Given the description of an element on the screen output the (x, y) to click on. 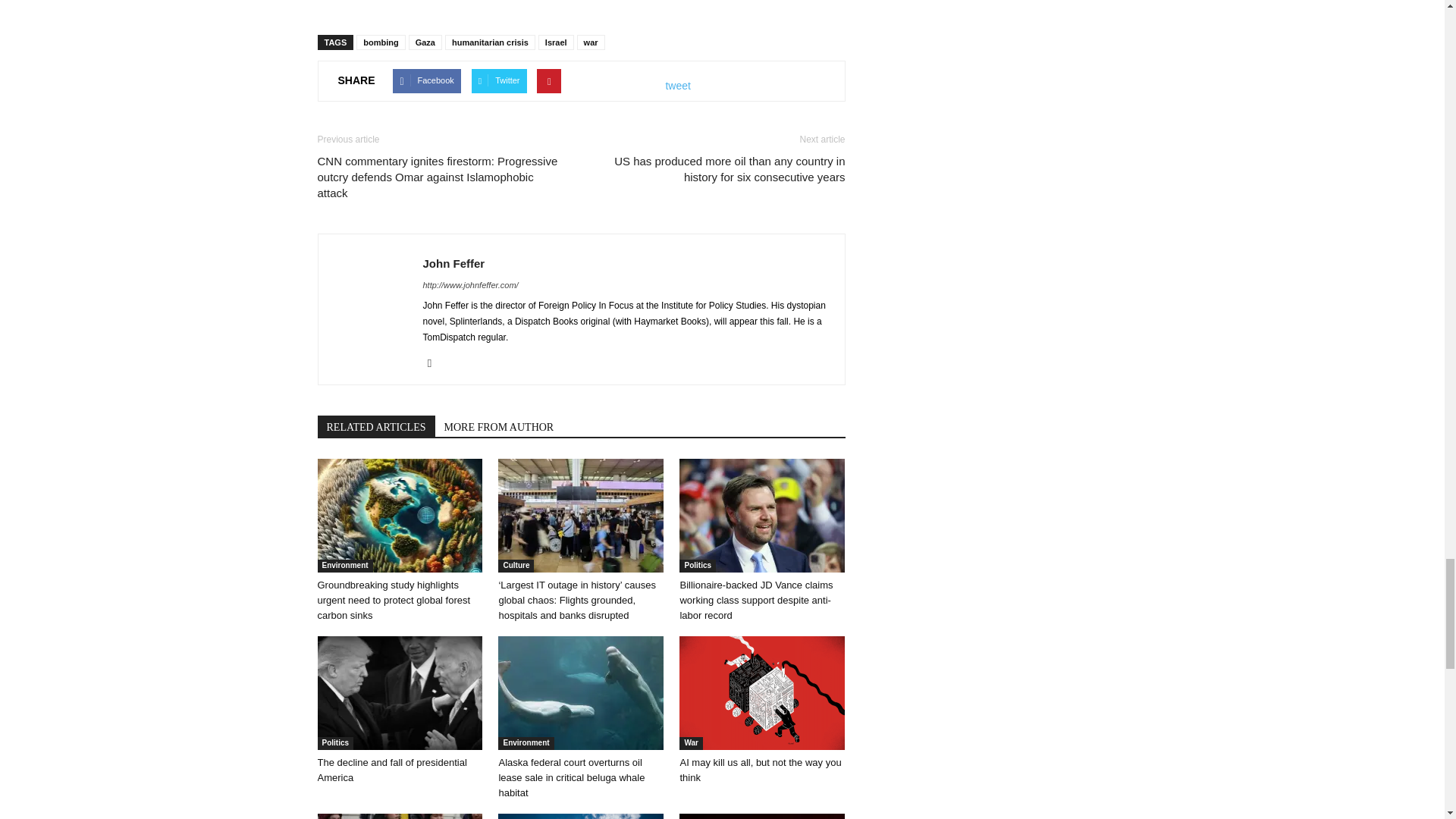
Twitter (435, 362)
